Given the description of an element on the screen output the (x, y) to click on. 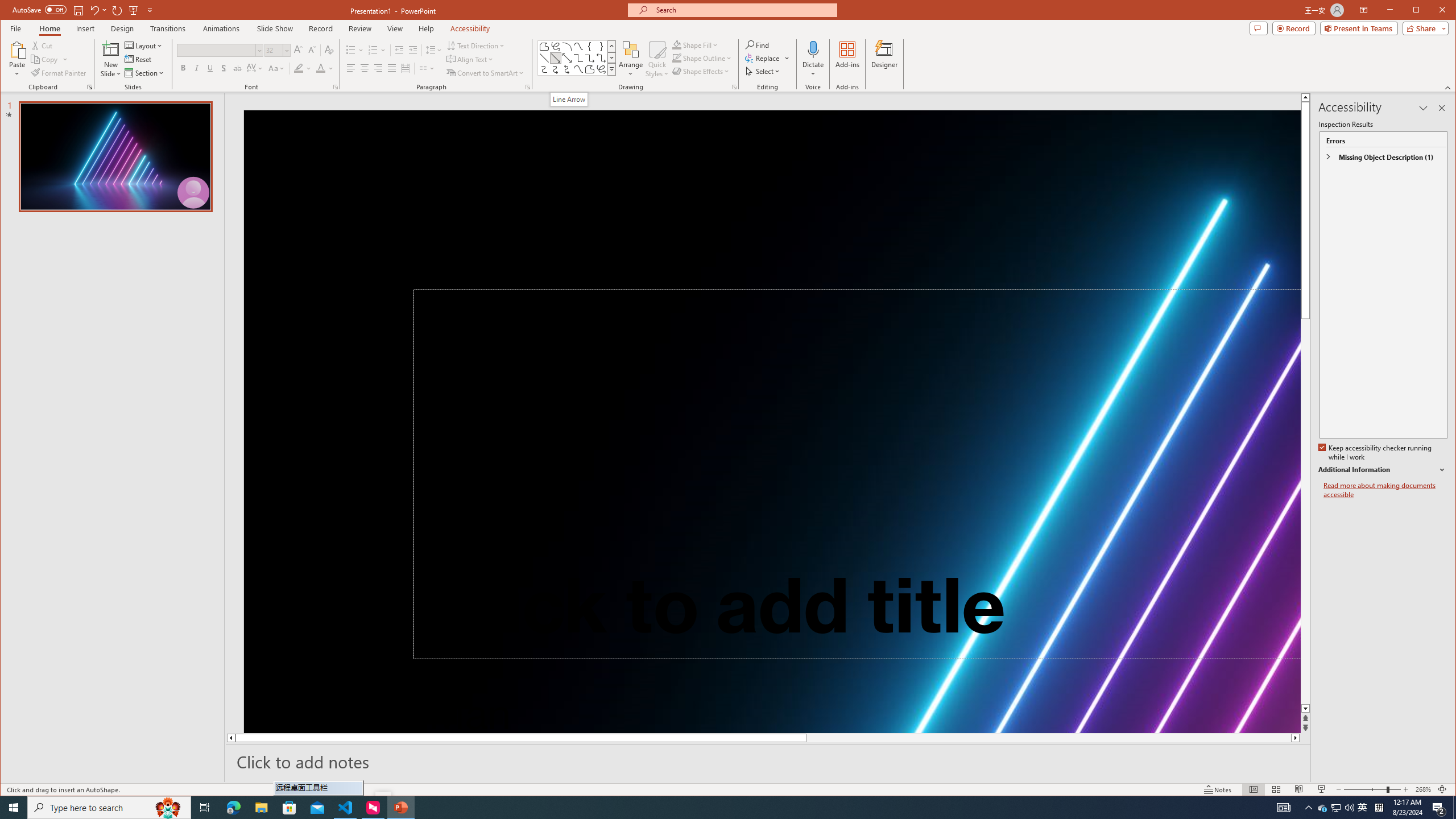
Connector: Curved Double-Arrow (567, 69)
